Given the description of an element on the screen output the (x, y) to click on. 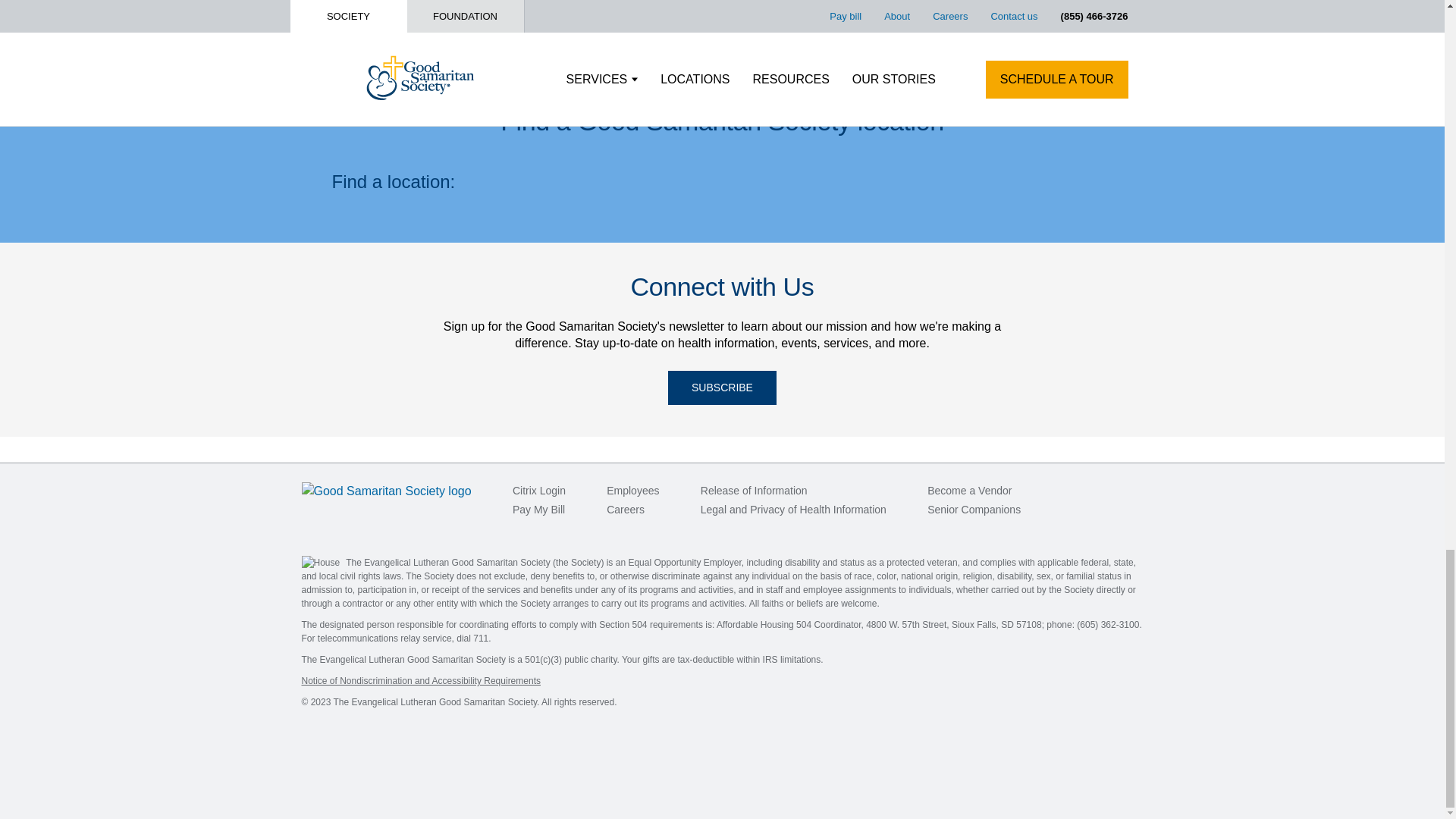
SUBSCRIBE (722, 387)
facebook link (1070, 490)
House (320, 562)
linkedin link (1102, 490)
youtube link (1133, 490)
